Given the description of an element on the screen output the (x, y) to click on. 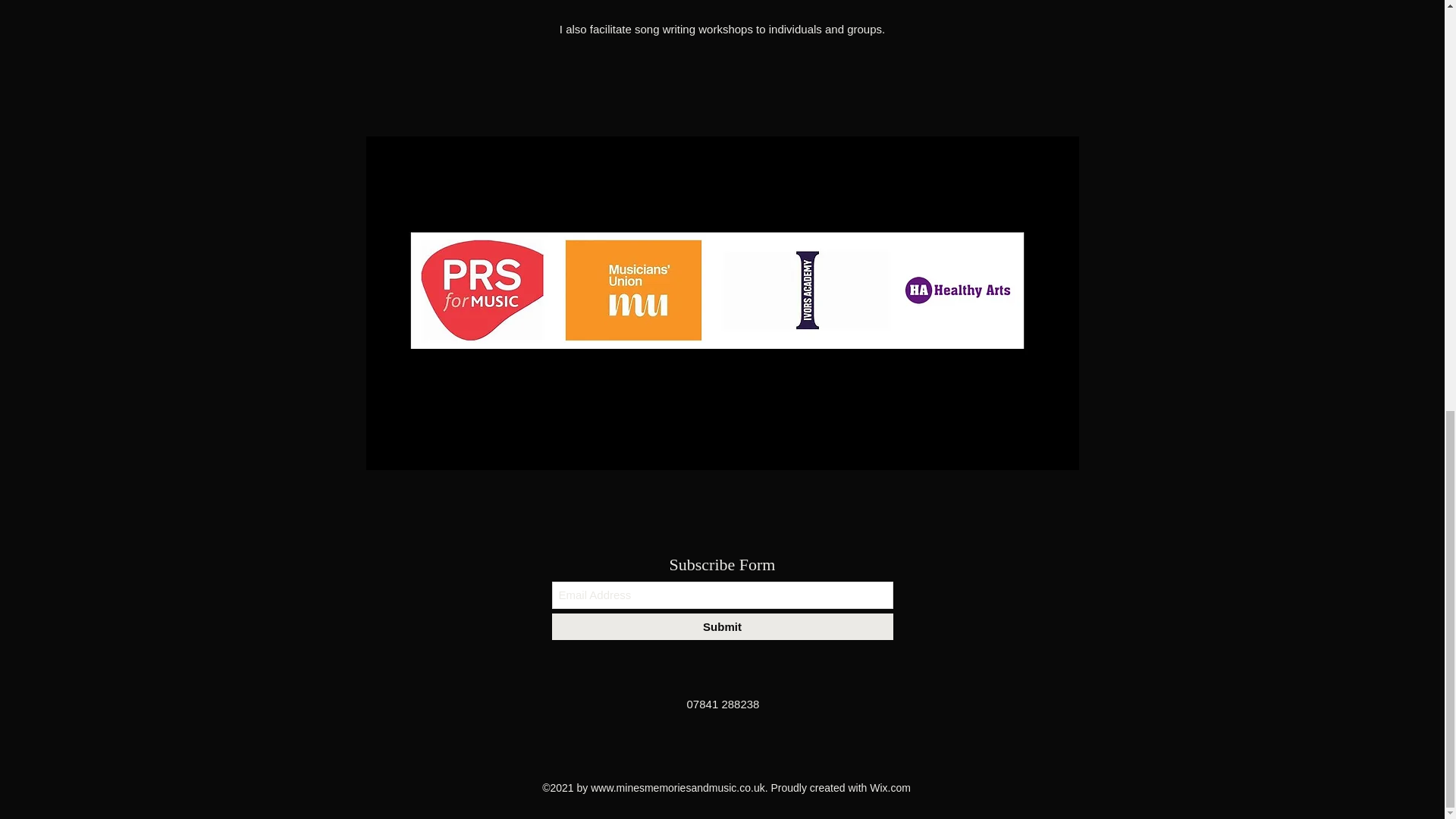
www.minesmemoriesandmusic.co.uk (678, 787)
Submit (722, 626)
